Given the description of an element on the screen output the (x, y) to click on. 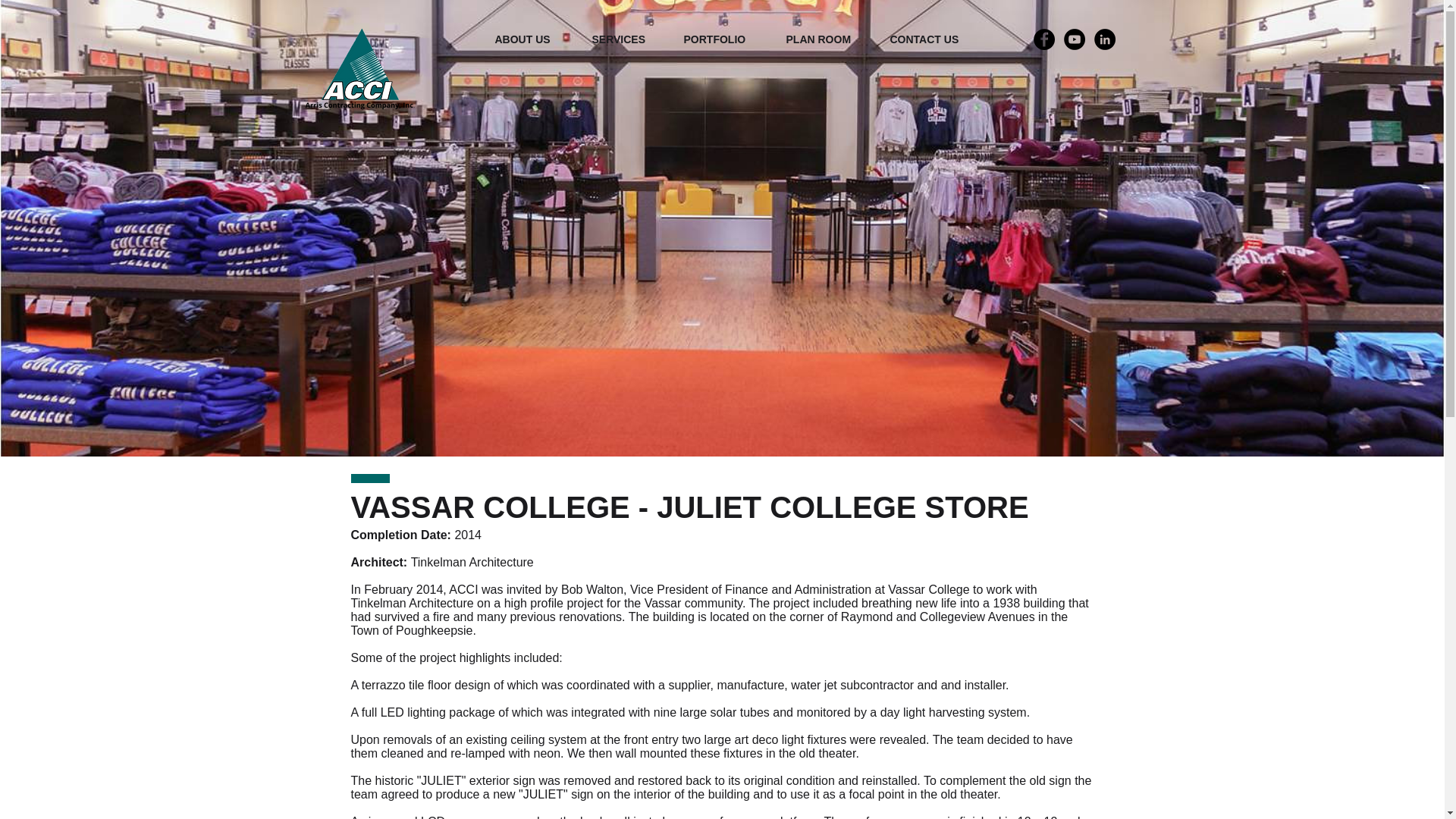
CONTACT US (937, 38)
PLAN ROOM (829, 38)
